Given the description of an element on the screen output the (x, y) to click on. 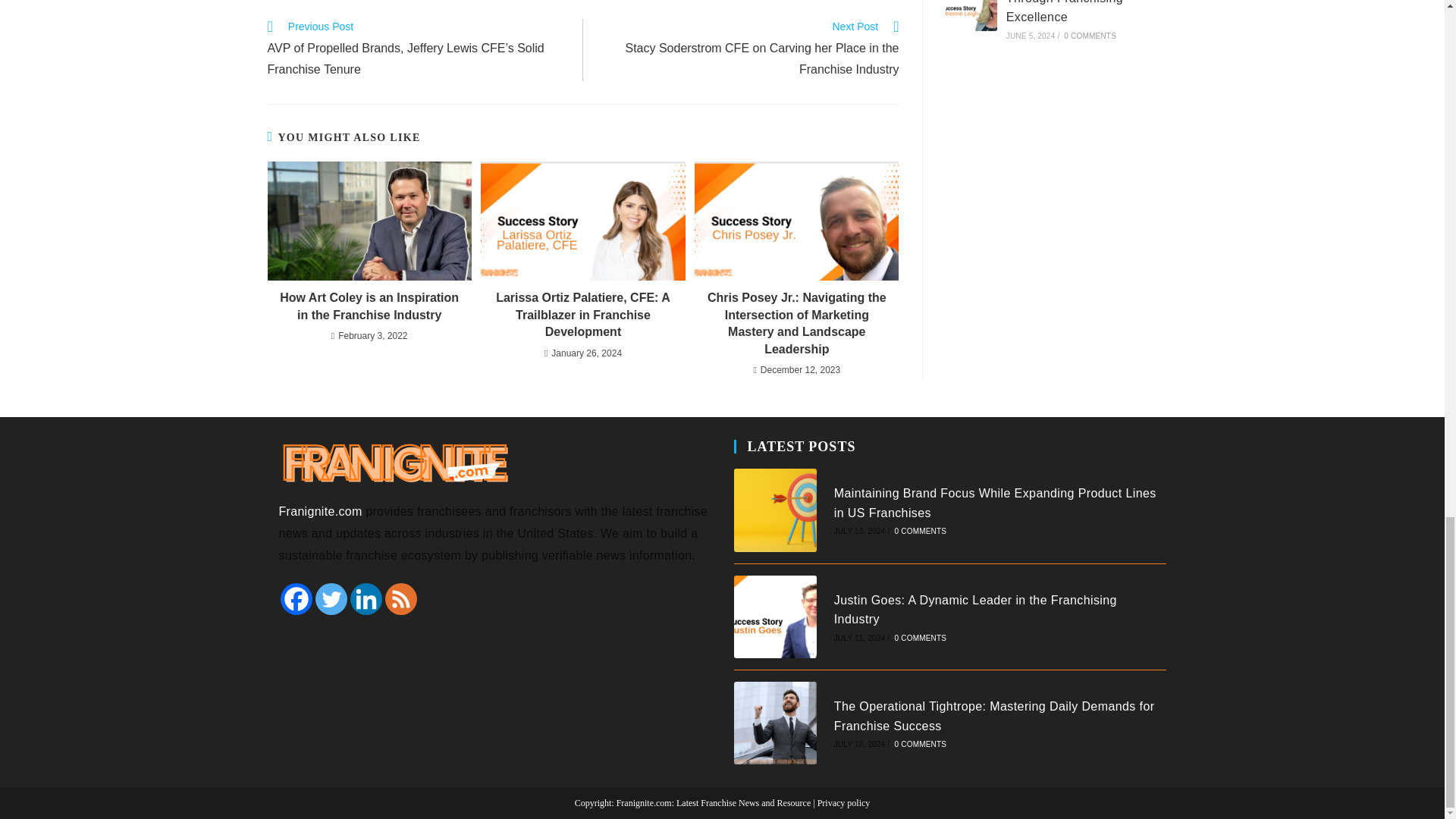
How Art Coley is an Inspiration in the Franchise Industry (368, 306)
